Given the description of an element on the screen output the (x, y) to click on. 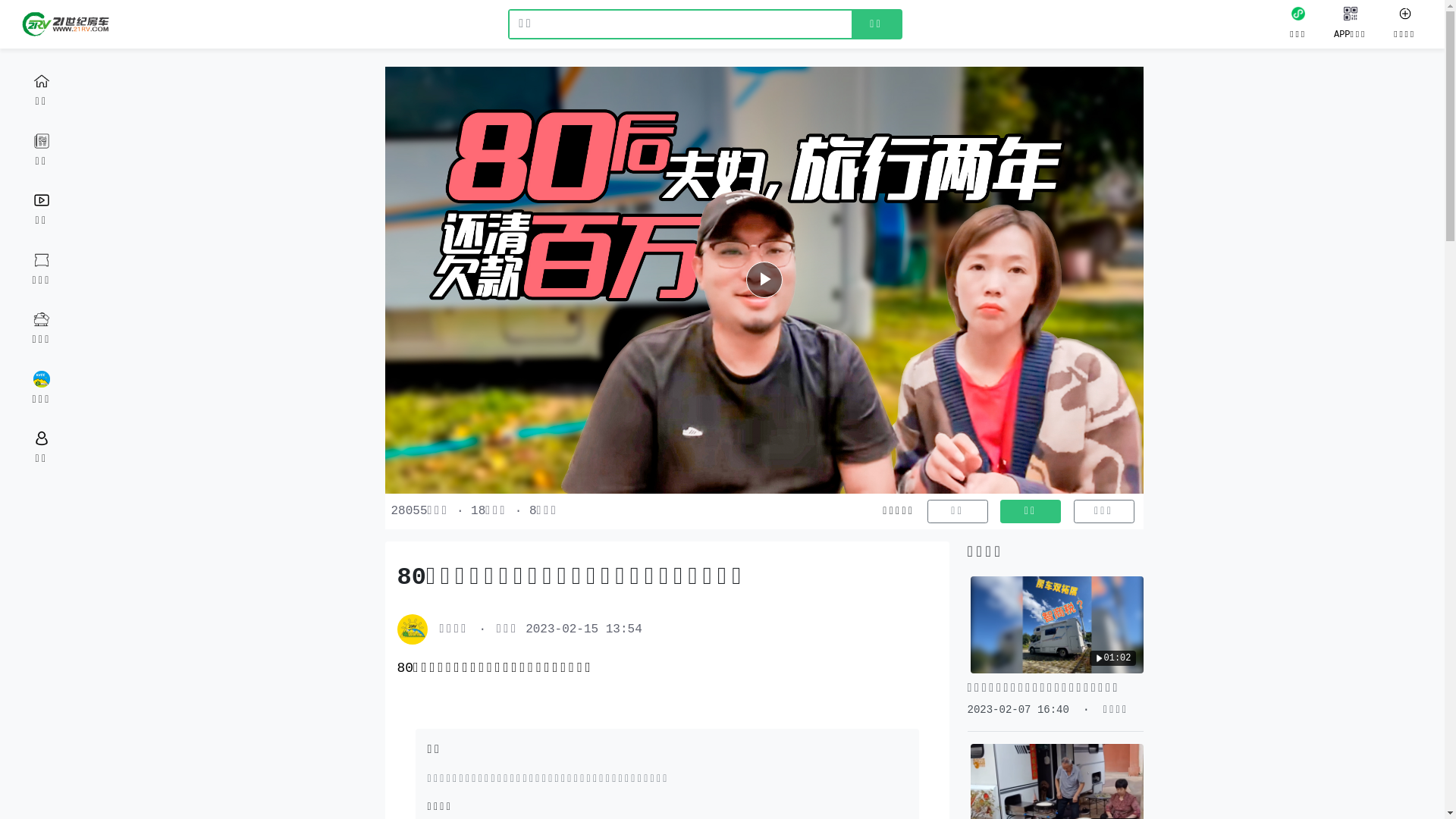
Play Video Element type: text (764, 279)
